Given the description of an element on the screen output the (x, y) to click on. 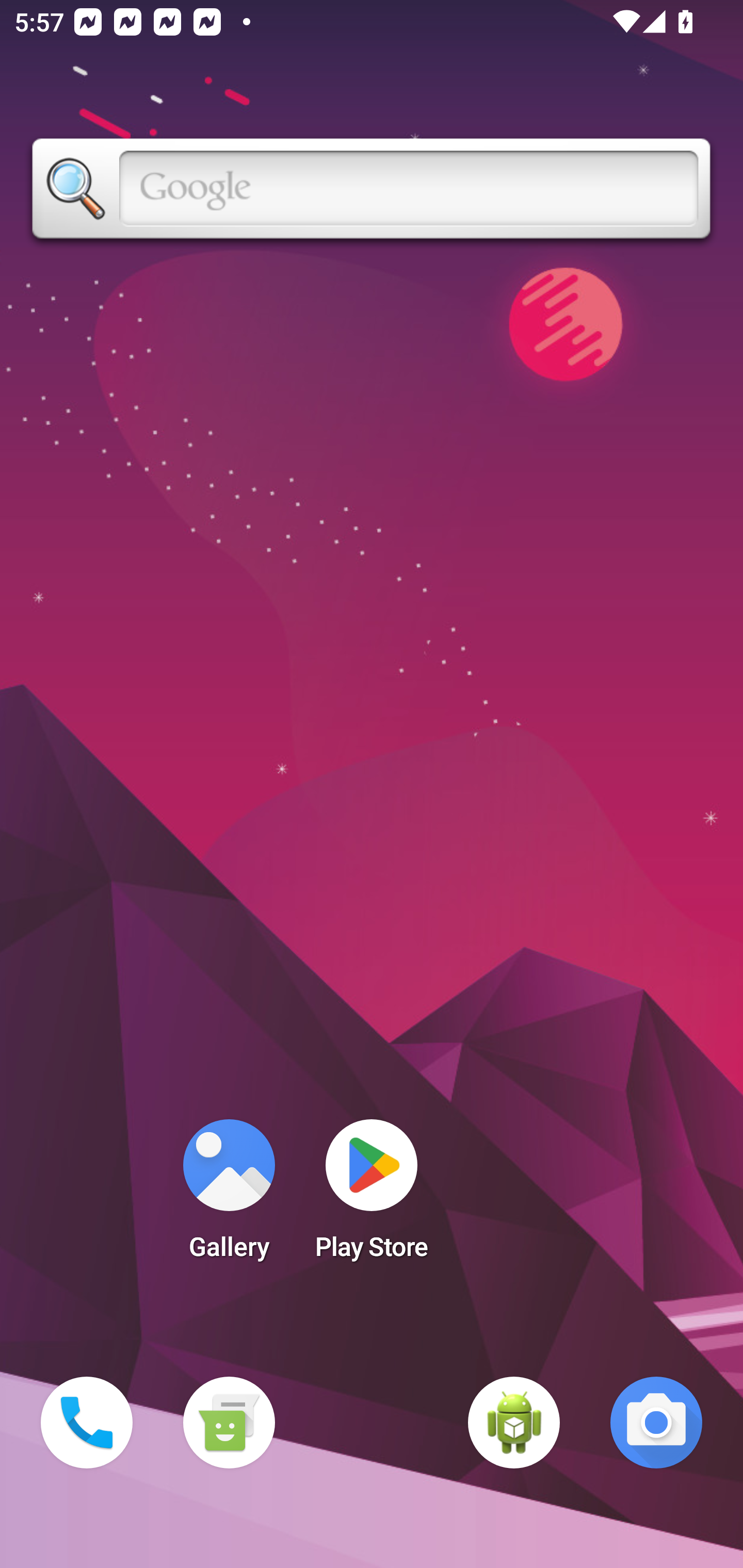
Gallery (228, 1195)
Play Store (371, 1195)
Phone (86, 1422)
Messaging (228, 1422)
WebView Browser Tester (513, 1422)
Camera (656, 1422)
